Given the description of an element on the screen output the (x, y) to click on. 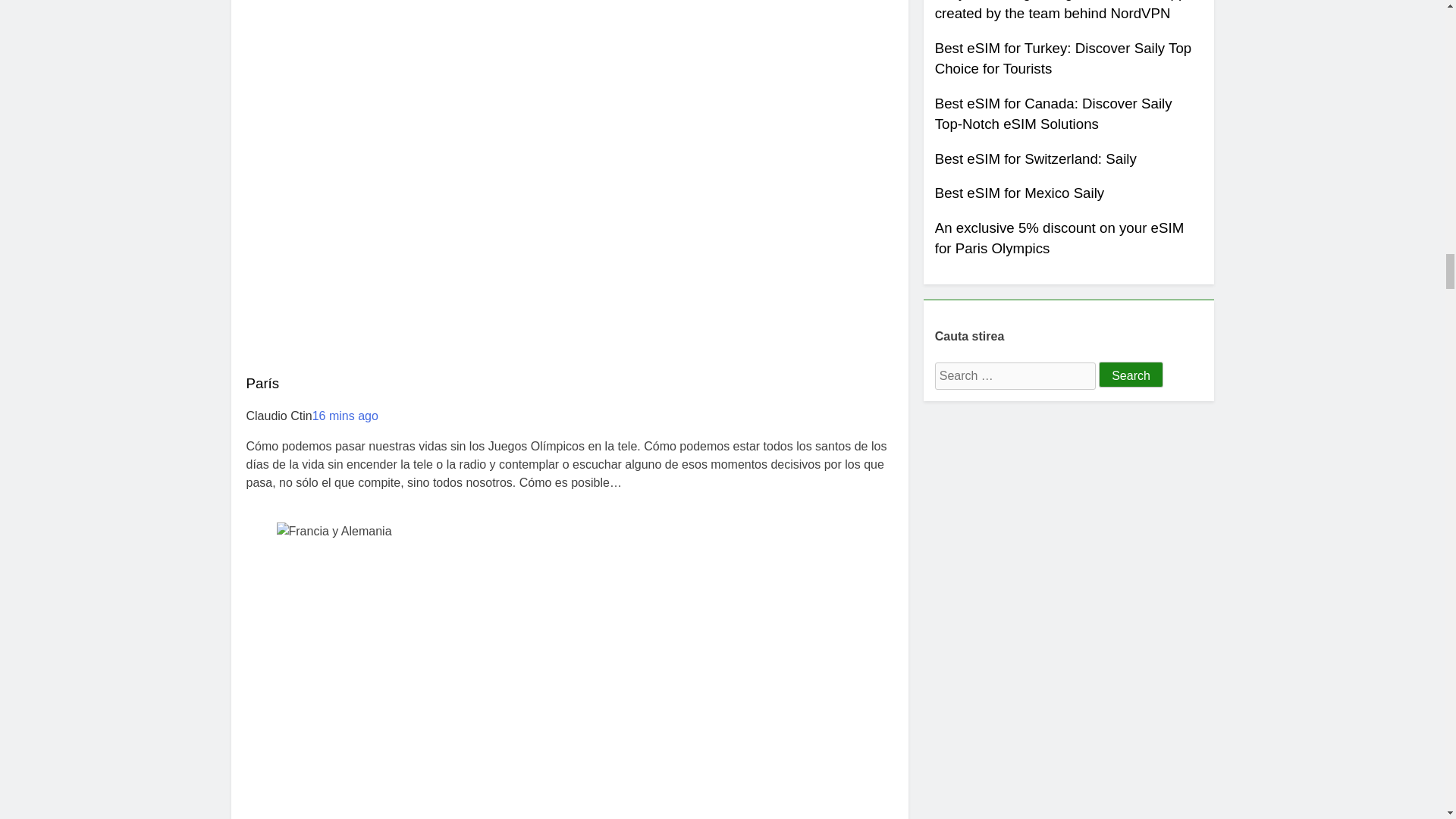
Search (1131, 374)
Search (1131, 374)
